Given the description of an element on the screen output the (x, y) to click on. 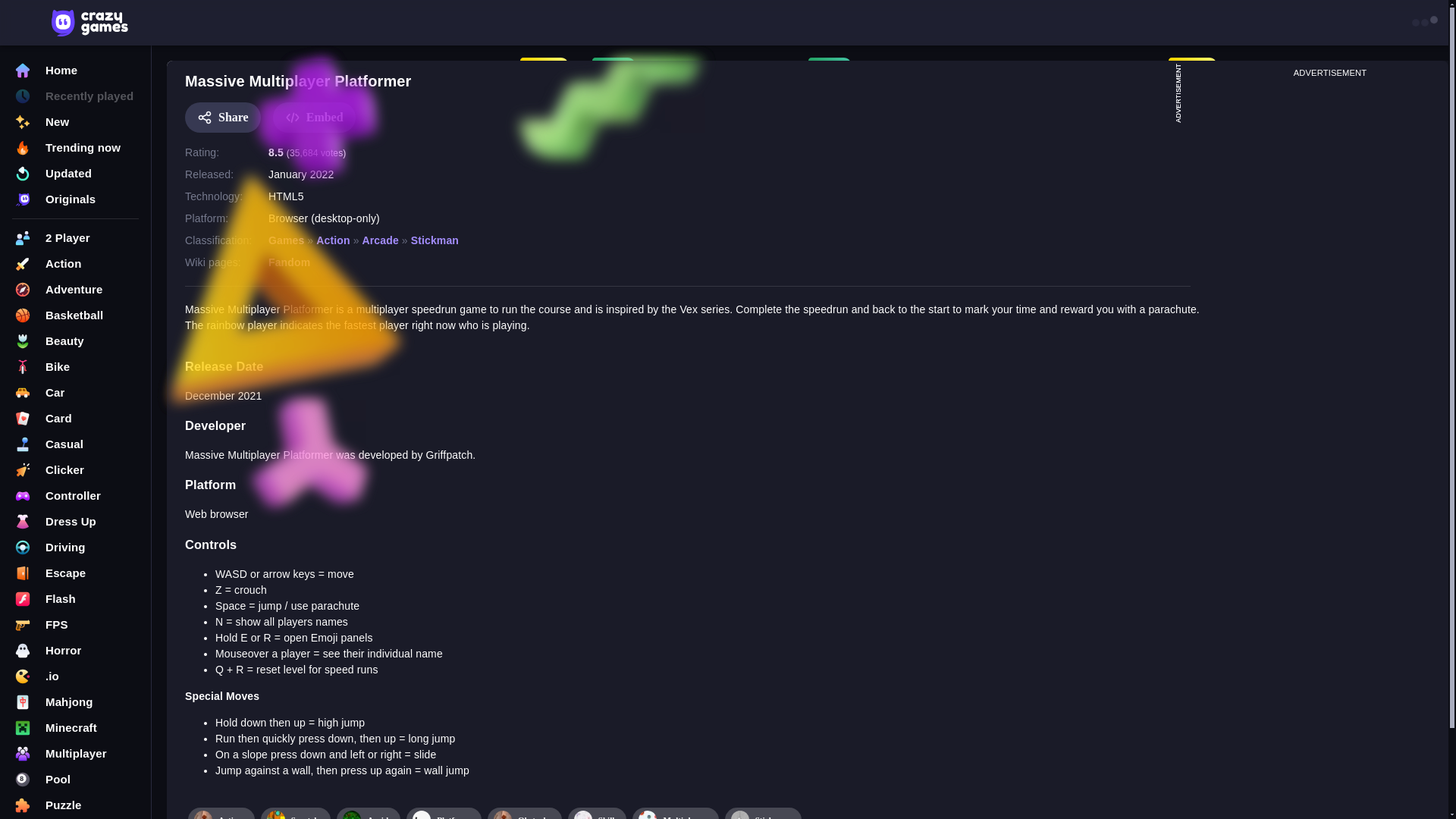
.io (75, 676)
Logo CrazyGames.com (90, 22)
Trending now (75, 147)
Basketball (75, 315)
Multiplayer (75, 753)
Mahjong (75, 701)
FPS (75, 624)
New (75, 121)
Driving (75, 547)
